Given the description of an element on the screen output the (x, y) to click on. 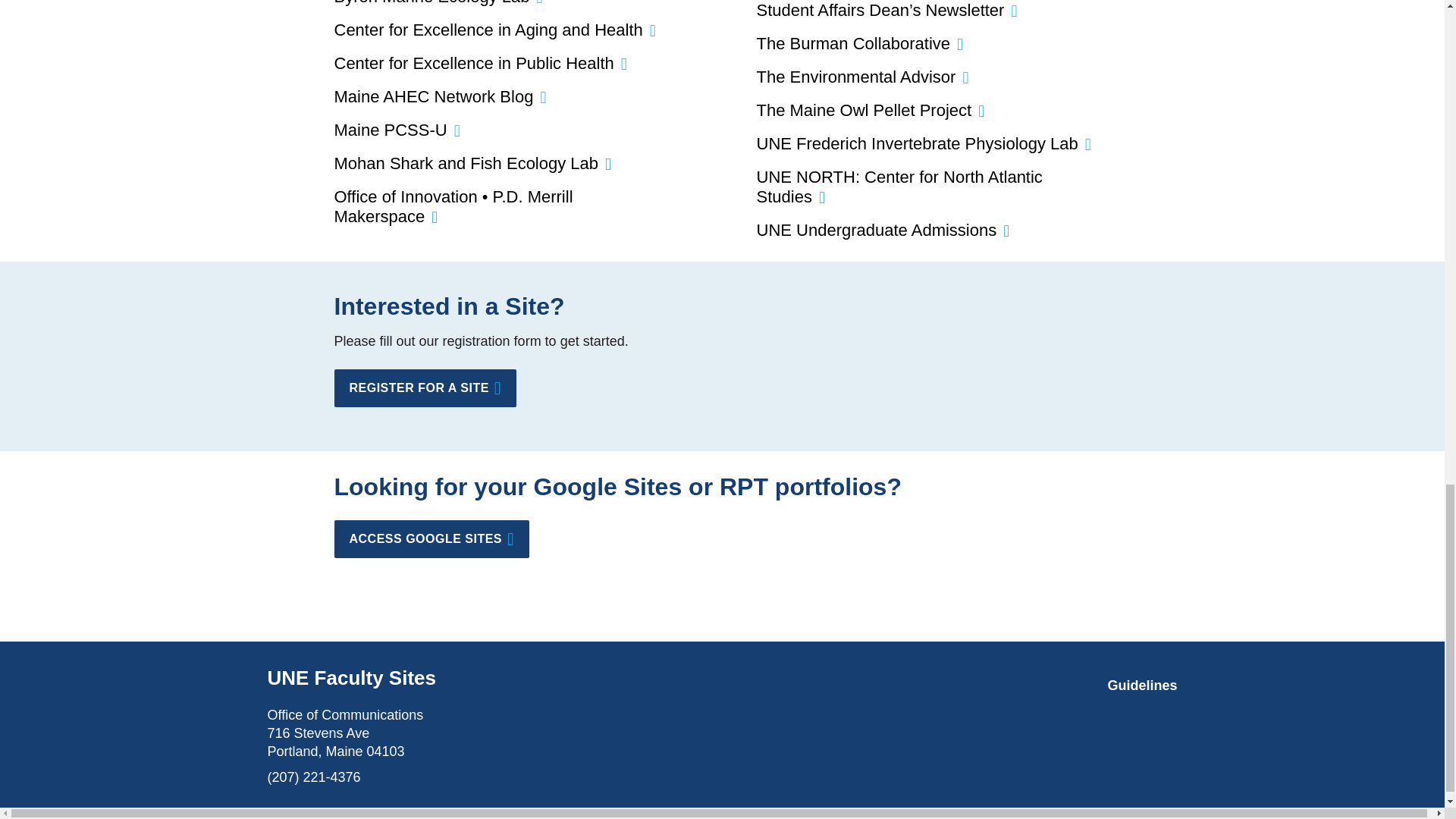
Byron Marine Ecology Lab (431, 2)
Maine PCSS-U (389, 129)
Maine AHEC Network Blog (432, 96)
Center for Excellence in Public Health (472, 63)
Center for Excellence in Aging and Health (487, 29)
The Burman Collaborative (853, 43)
Mohan Shark and Fish Ecology Lab (465, 162)
